Given the description of an element on the screen output the (x, y) to click on. 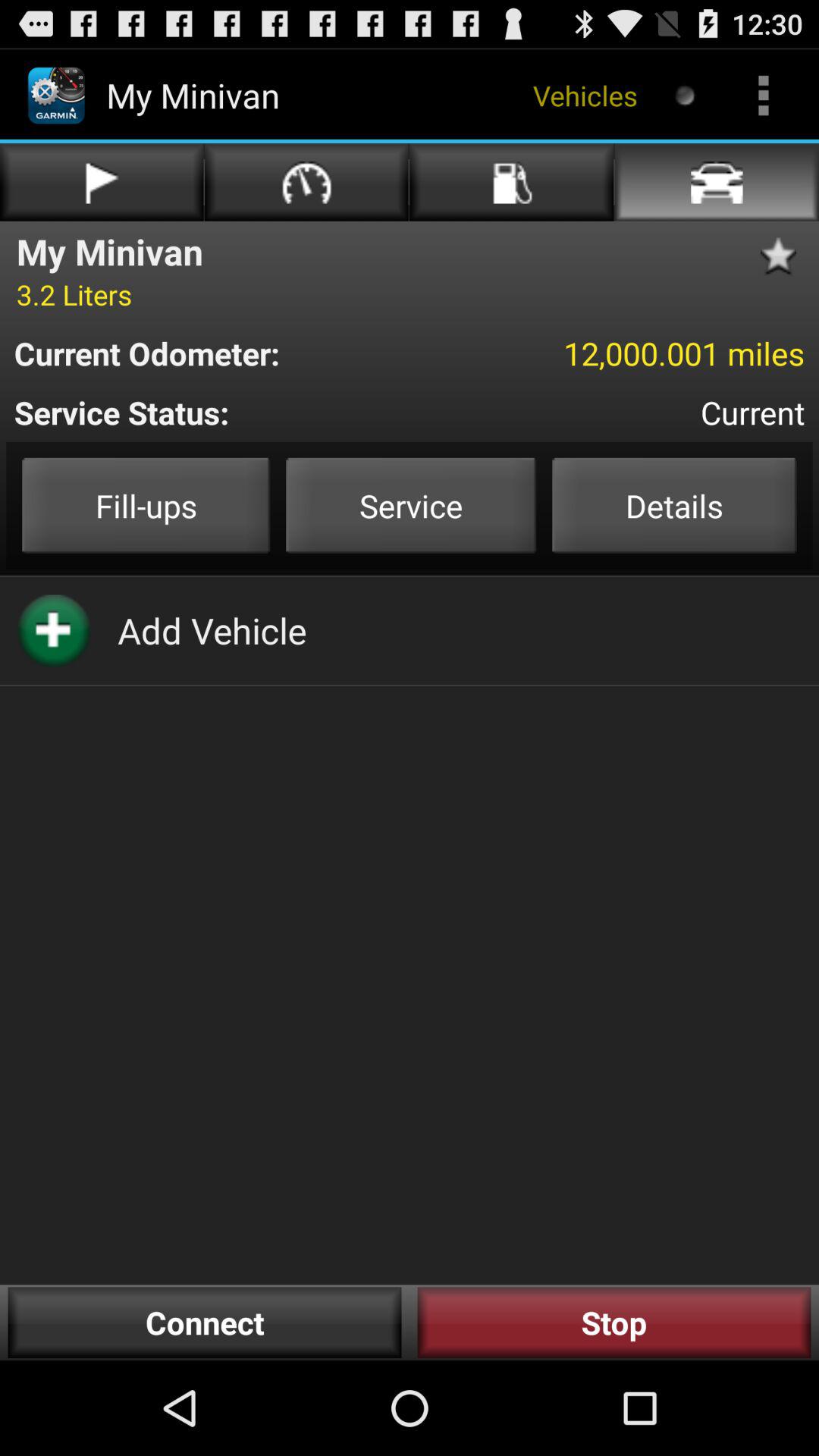
click to favorite this page (783, 256)
